Given the description of an element on the screen output the (x, y) to click on. 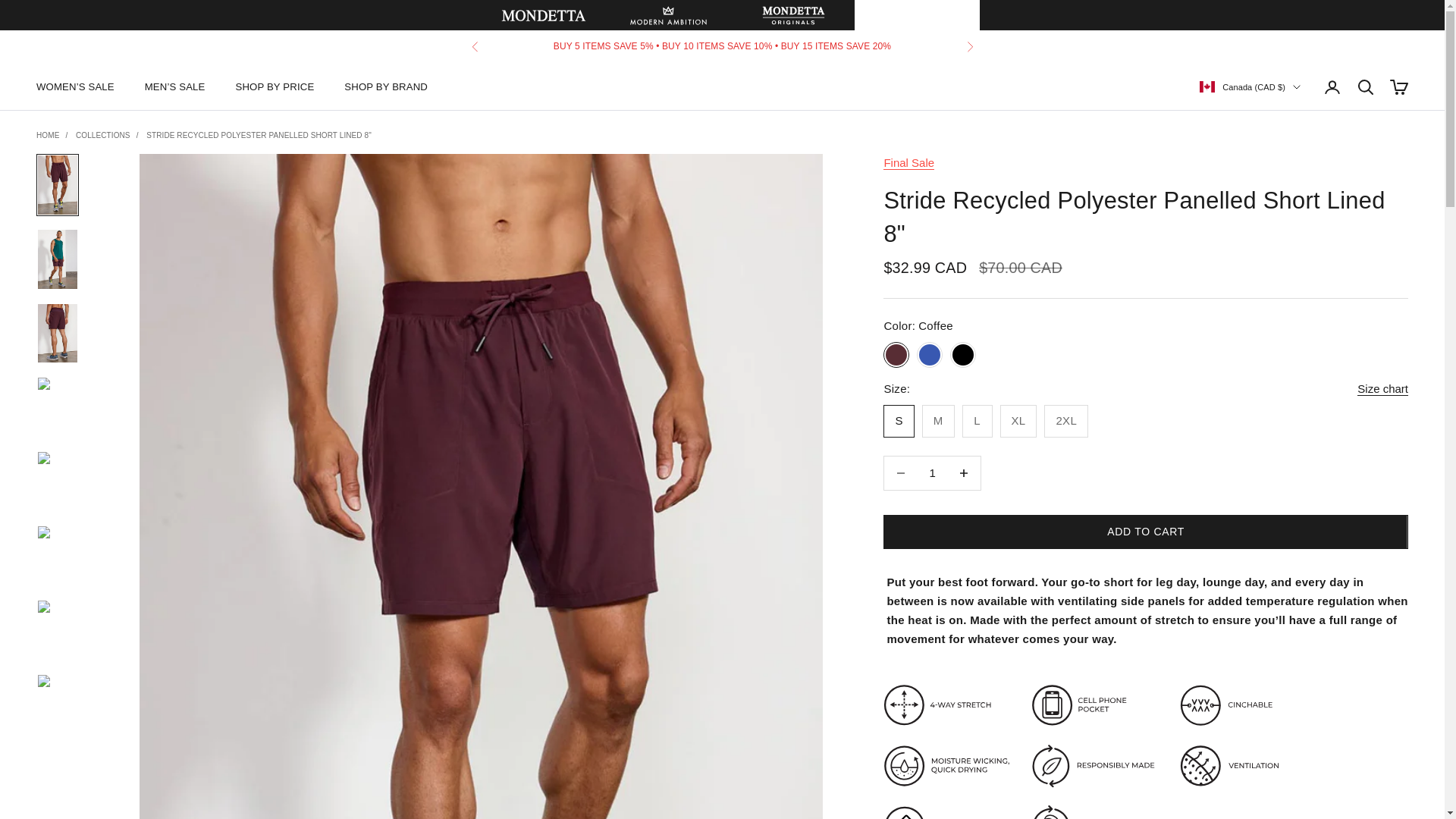
1 (932, 472)
